Given the description of an element on the screen output the (x, y) to click on. 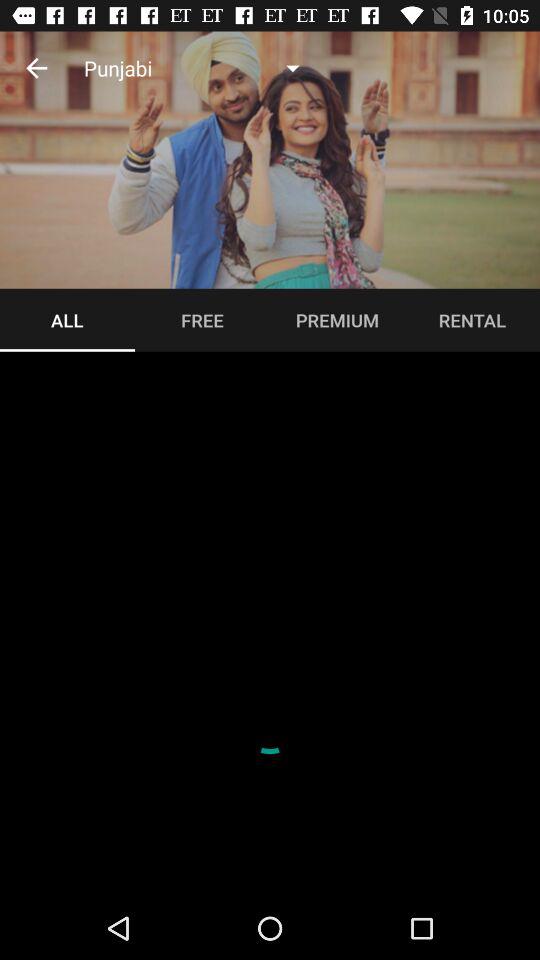
select icon to the left of the punjabi (36, 68)
